Given the description of an element on the screen output the (x, y) to click on. 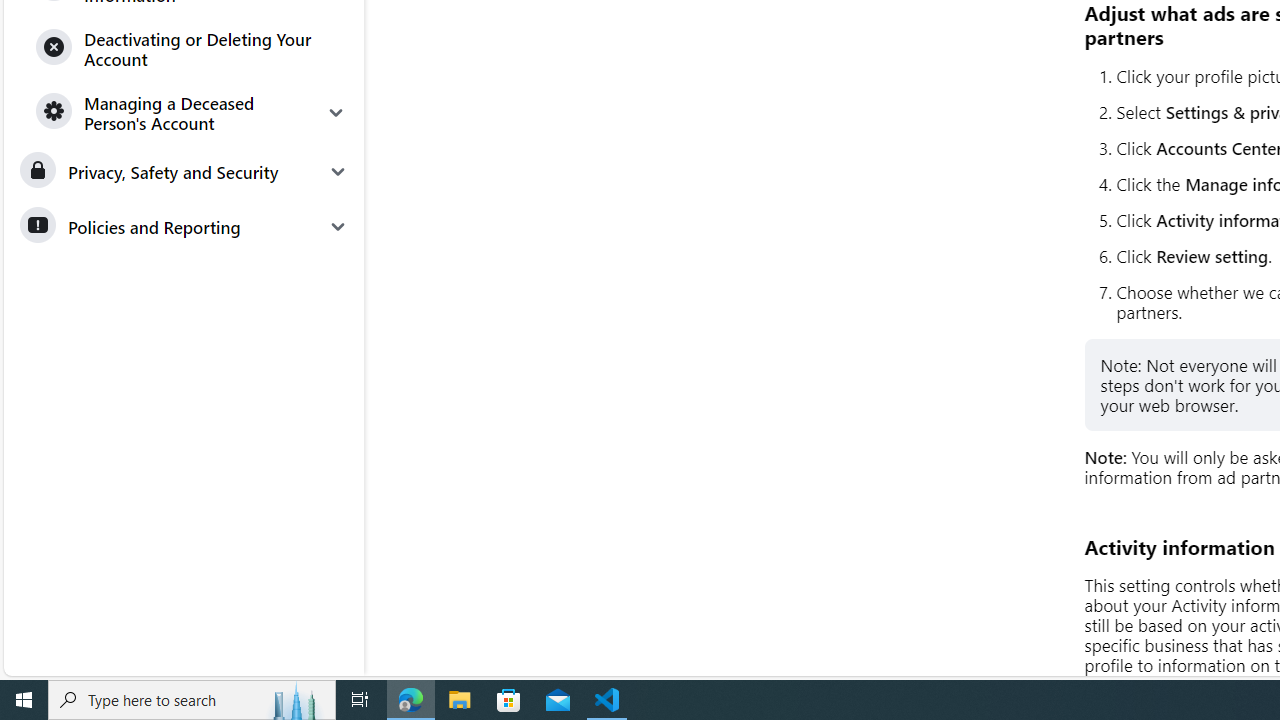
Expand (335, 112)
Managing a Deceased Person's Account Expand (191, 111)
Deactivating or Deleting Your Account (191, 47)
Policies and Reporting (183, 226)
Deactivating or Deleting Your Account (191, 47)
Privacy, Safety and Security (183, 171)
Managing a Deceased Person's Account (191, 111)
